Given the description of an element on the screen output the (x, y) to click on. 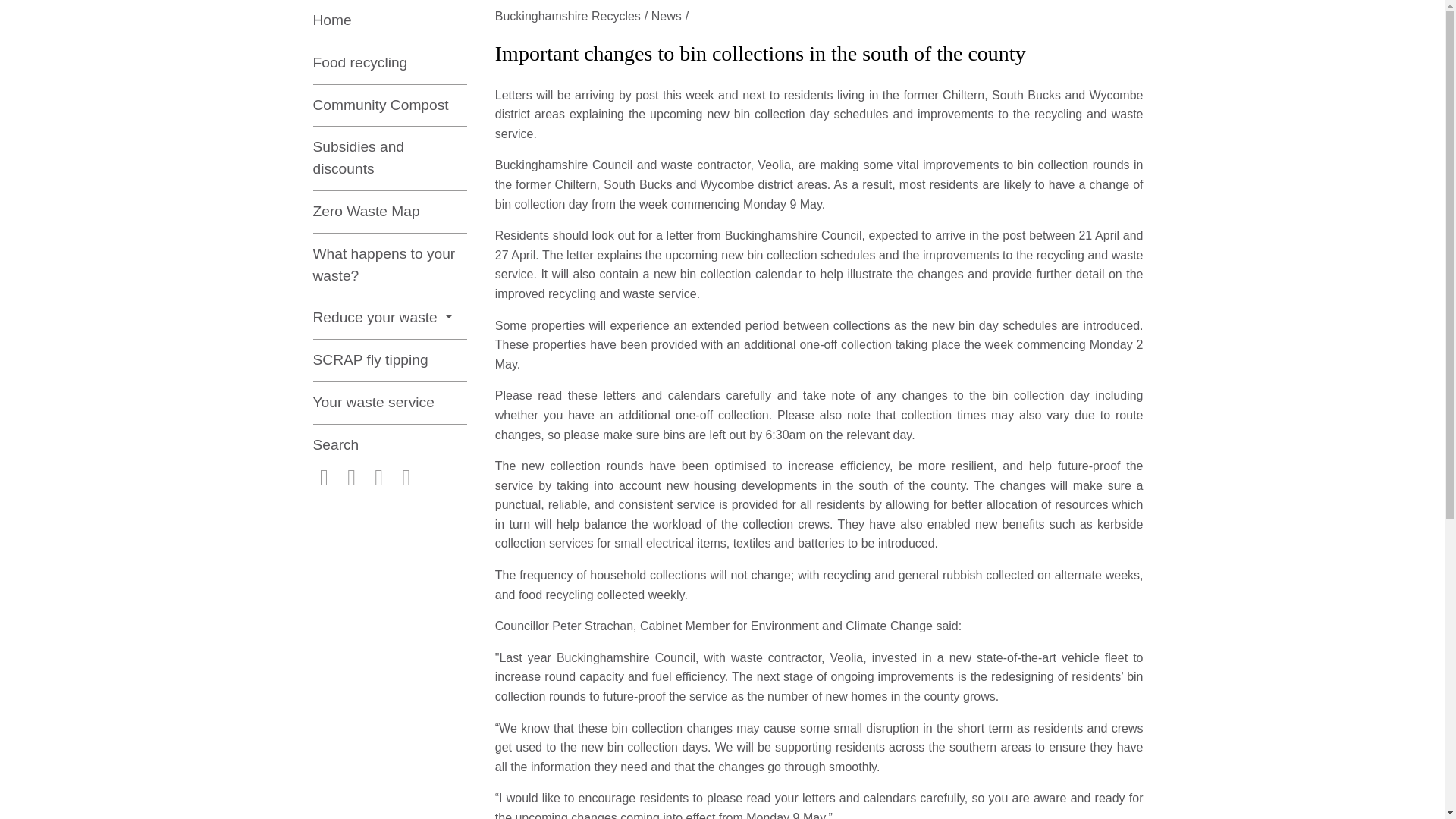
YouTube (405, 479)
Search (389, 445)
Food recycling (389, 63)
Twitter (379, 479)
News (671, 16)
Home (389, 21)
Instagram (351, 479)
Your waste service (389, 403)
Community Compost (389, 106)
Buckinghamshire Recycles (572, 16)
SCRAP fly tipping (389, 360)
Zero Waste Map (389, 211)
What happens to your waste? (389, 265)
Facebook (323, 479)
Subsidies and discounts (389, 158)
